Given the description of an element on the screen output the (x, y) to click on. 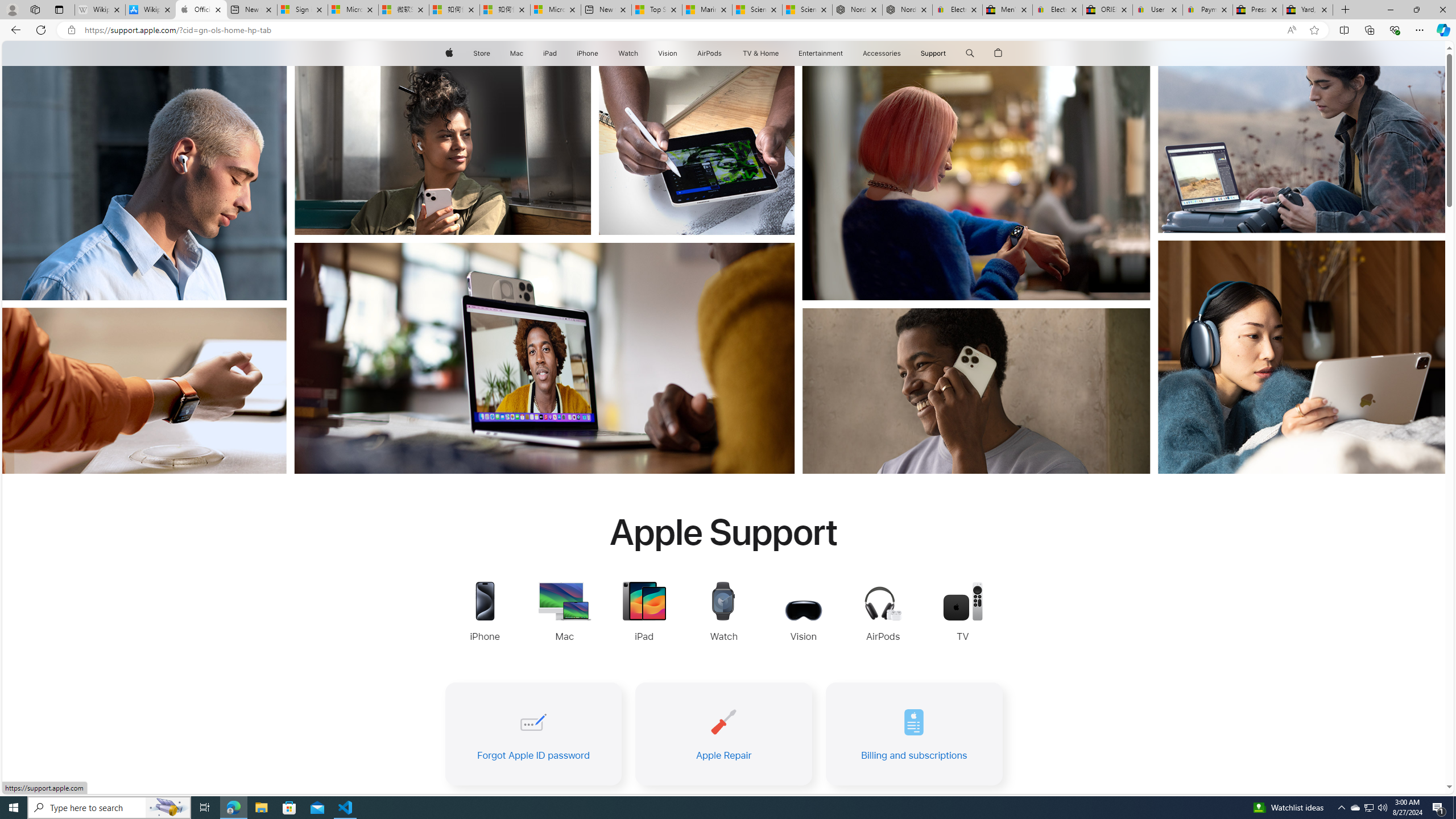
Apple (448, 53)
iPhone (587, 53)
Apple Vision Pro Support (802, 612)
Entertainment menu (844, 53)
AirPods (709, 53)
Store (481, 53)
Entertainment (820, 53)
Forgot Apple ID password (532, 734)
Billing and subscriptions (914, 734)
iPhone Support (484, 612)
Microsoft account | Account Checkup (555, 9)
Accessories (881, 53)
